Given the description of an element on the screen output the (x, y) to click on. 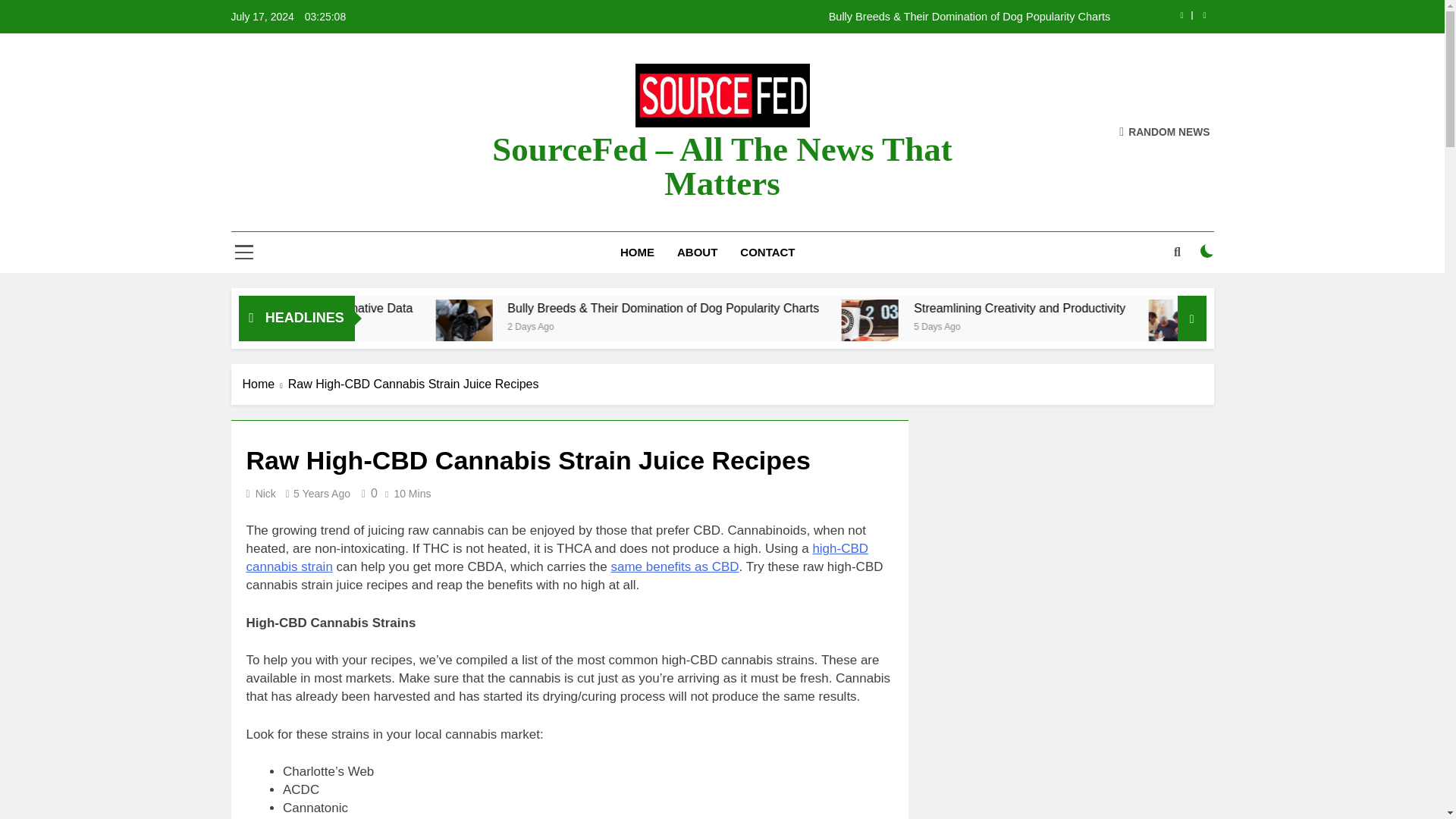
Streamlining Creativity and Productivity (1006, 327)
HOME (636, 251)
Expanding Access to Credit with Alternative Data (430, 308)
on (1206, 250)
ABOUT (697, 251)
Streamlining Creativity and Productivity (1149, 308)
2 Days Ago (746, 325)
RANDOM NEWS (1164, 131)
Streamlining Creativity and Productivity (1002, 327)
5 Days Ago (1144, 325)
Streamlining Creativity and Productivity (1229, 308)
CONTACT (767, 251)
Expanding Access to Credit with Alternative Data (511, 308)
2 Days Ago (398, 325)
